Given the description of an element on the screen output the (x, y) to click on. 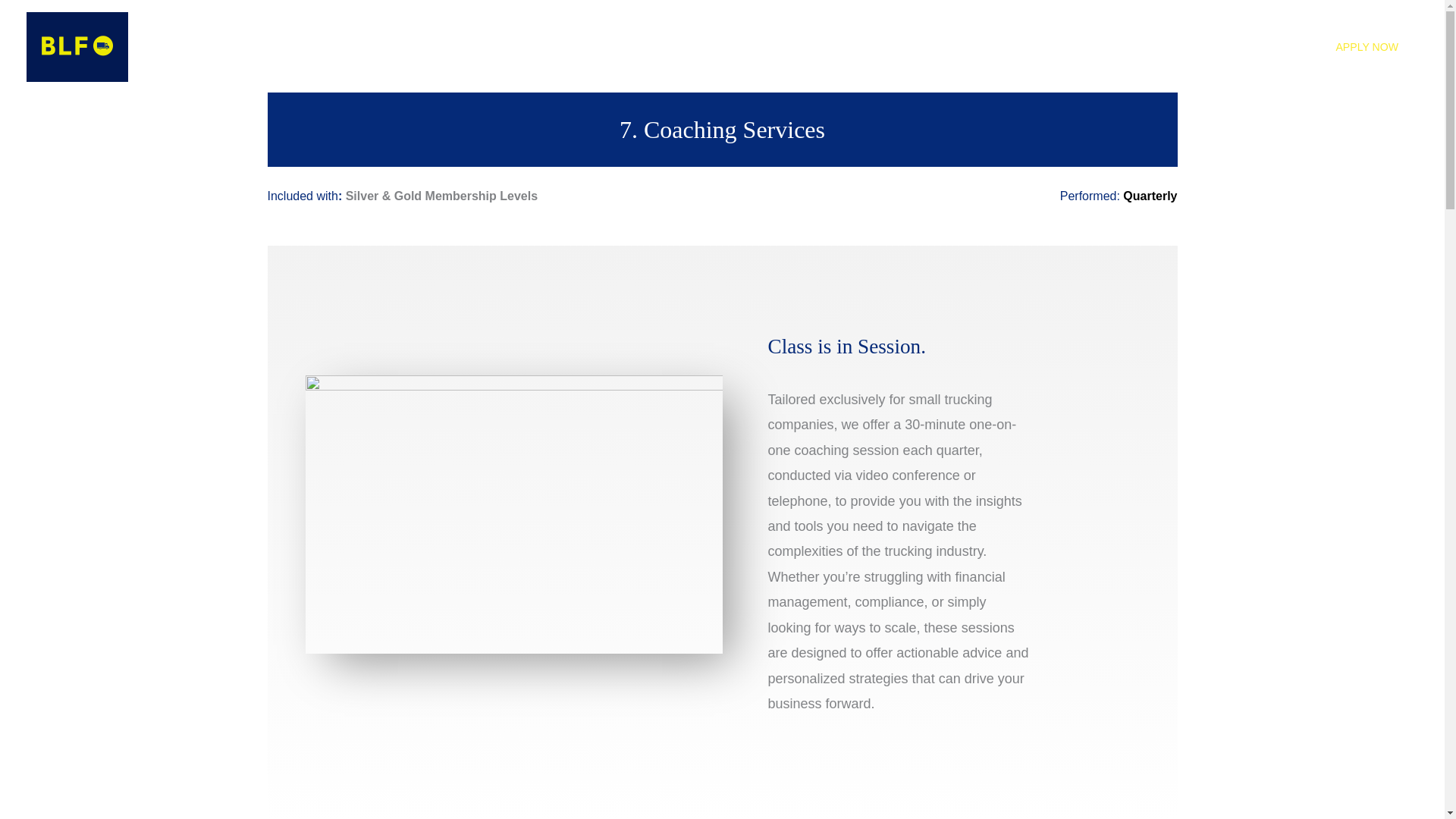
APPLY NOW (1367, 46)
About (1121, 46)
Home (1064, 46)
Contact (1267, 46)
Services (1191, 46)
